Given the description of an element on the screen output the (x, y) to click on. 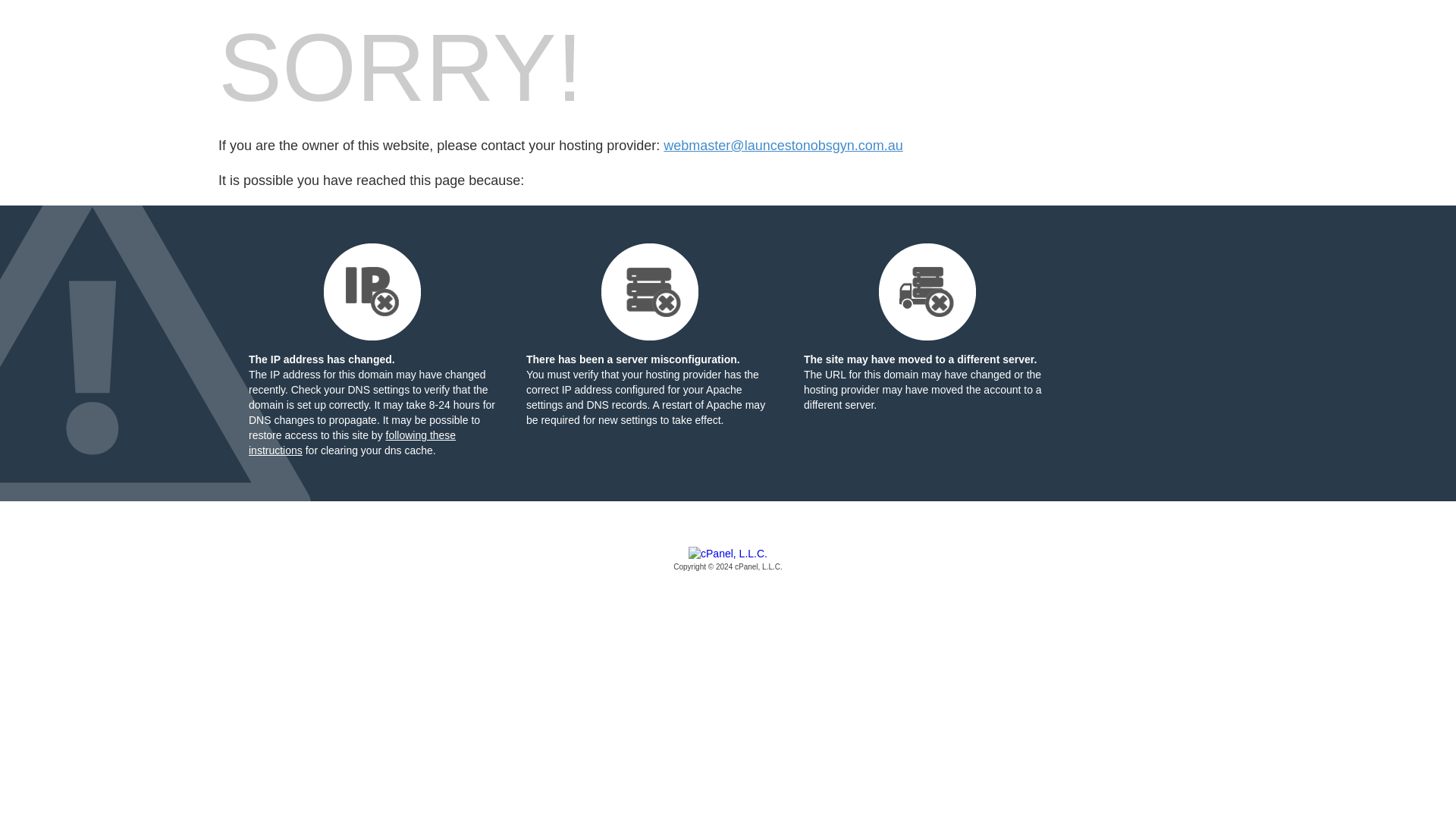
cPanel, L.L.C. (727, 559)
Click this link to contact the host (782, 145)
following these instructions (351, 442)
